Given the description of an element on the screen output the (x, y) to click on. 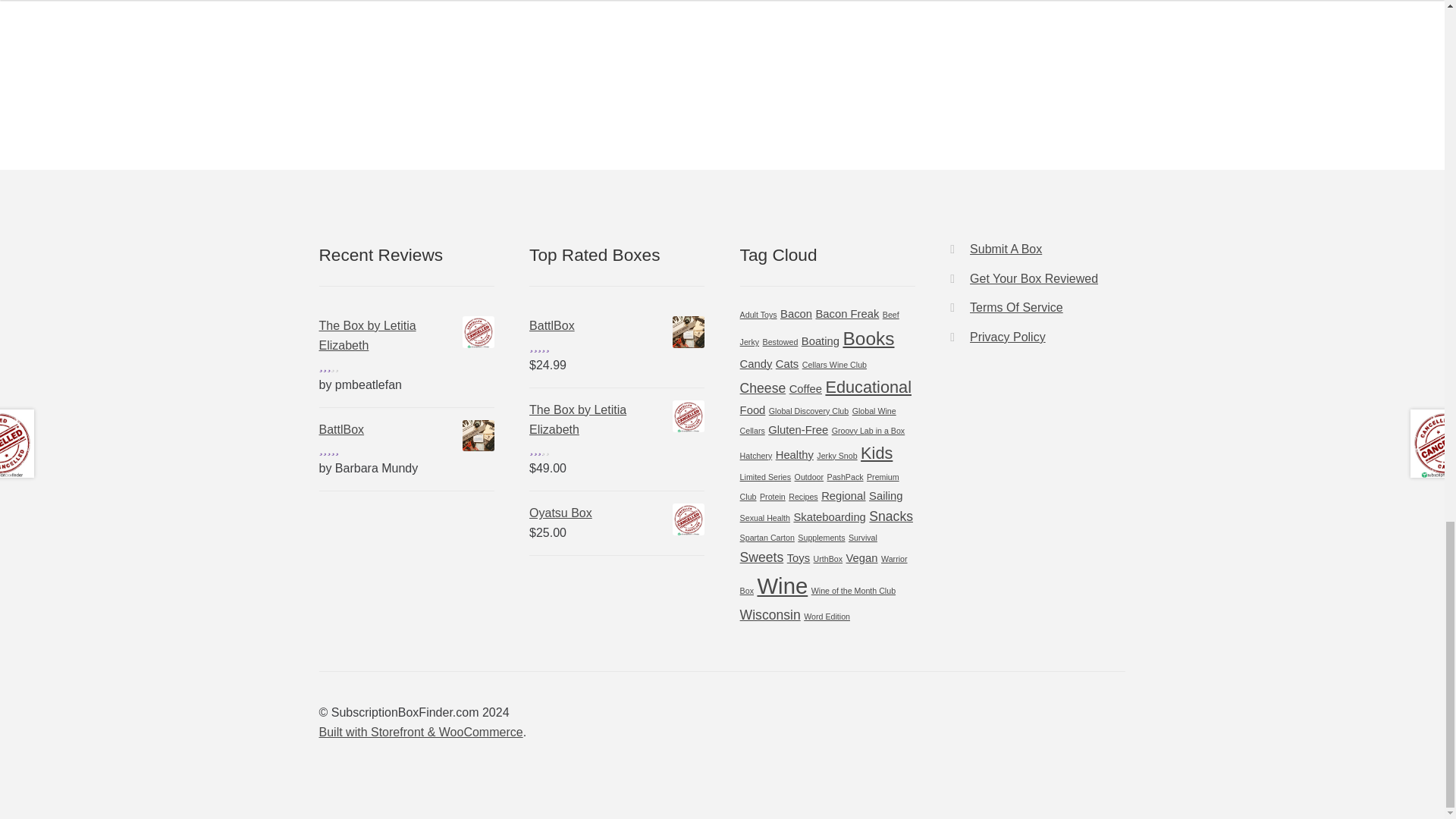
WooCommerce - The Best eCommerce Platform for WordPress (420, 731)
Advertisement (406, 47)
